Given the description of an element on the screen output the (x, y) to click on. 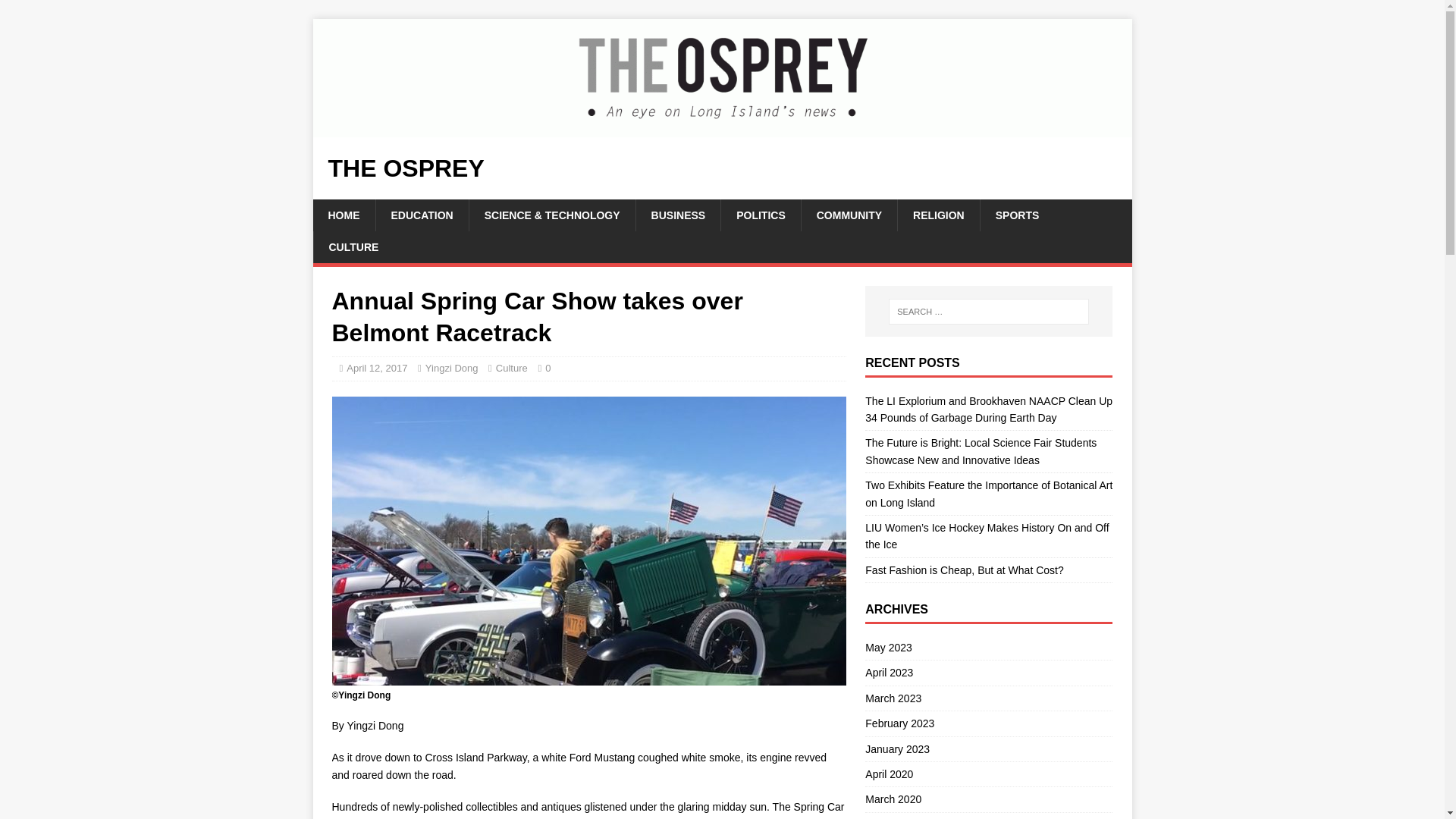
April 12, 2017 (376, 367)
May 2023 (988, 649)
CULTURE (353, 246)
POLITICS (760, 214)
SPORTS (1016, 214)
HOME (343, 214)
The Osprey (722, 128)
BUSINESS (677, 214)
